Given the description of an element on the screen output the (x, y) to click on. 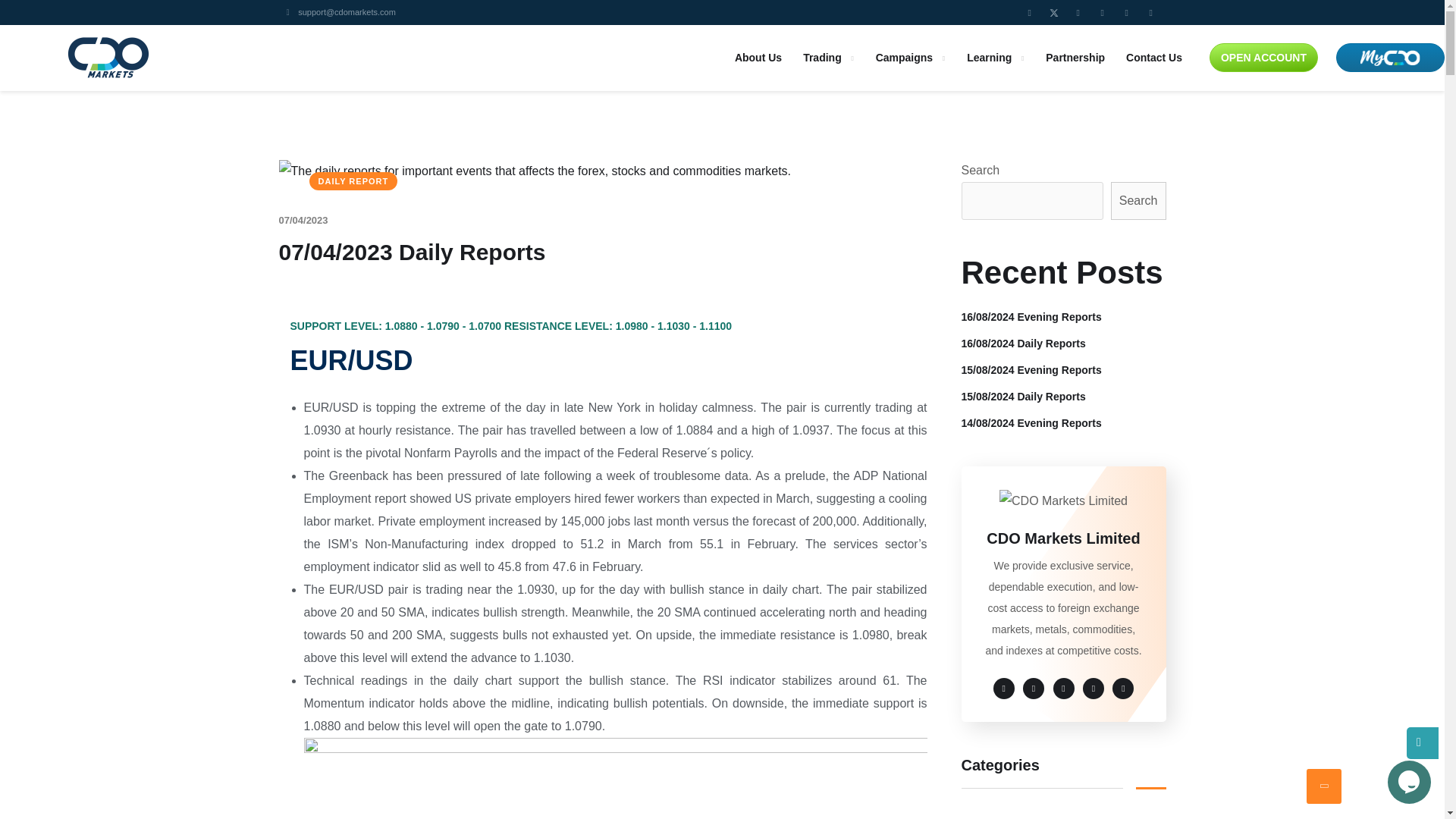
Learning (995, 57)
About Us (758, 57)
Campaigns (910, 57)
Trading (828, 57)
cdomarkets-logo (108, 57)
